Given the description of an element on the screen output the (x, y) to click on. 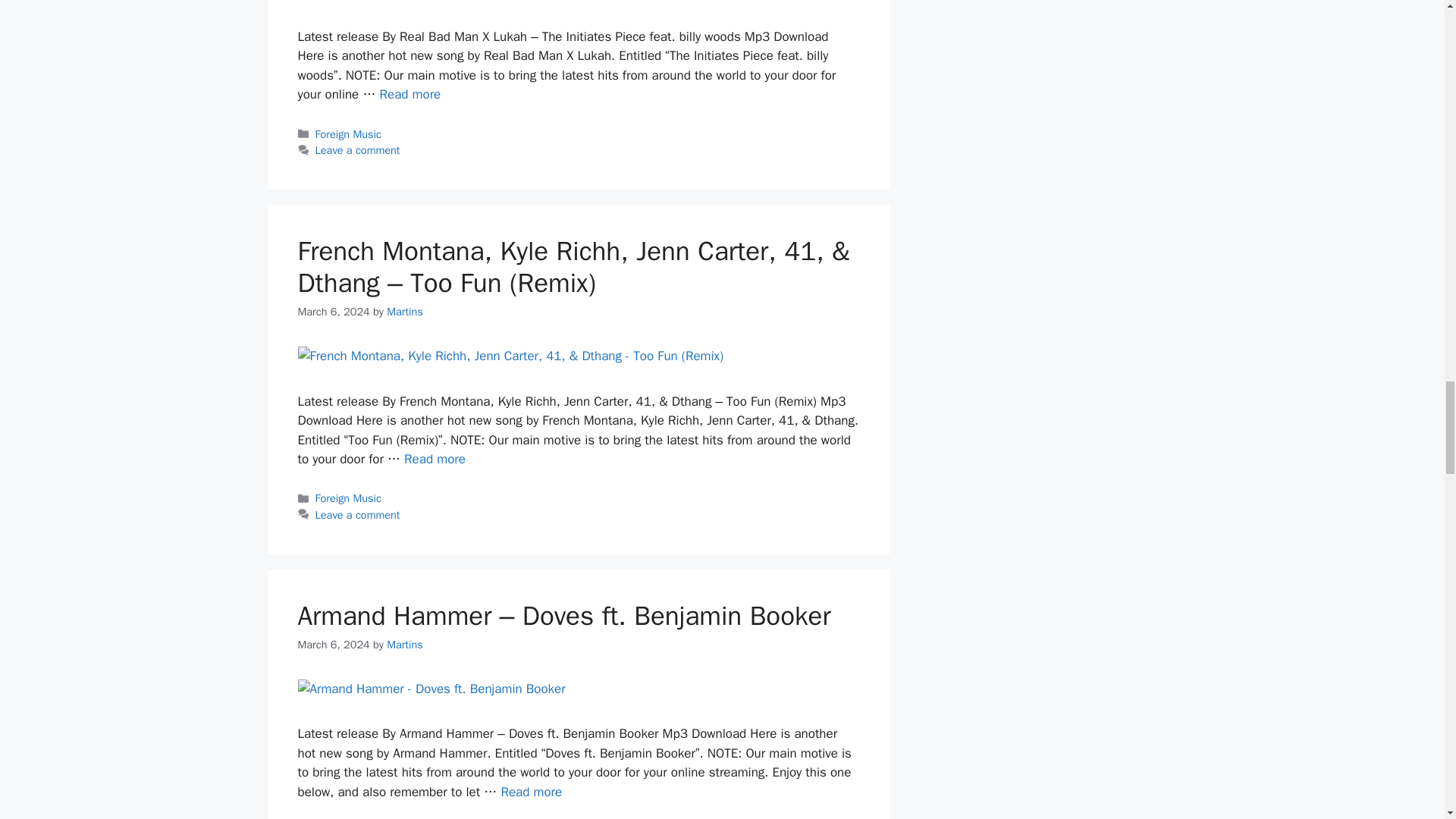
Read more (409, 94)
View all posts by Martins (405, 311)
View all posts by Martins (405, 644)
Foreign Music (348, 133)
Leave a comment (357, 150)
